Given the description of an element on the screen output the (x, y) to click on. 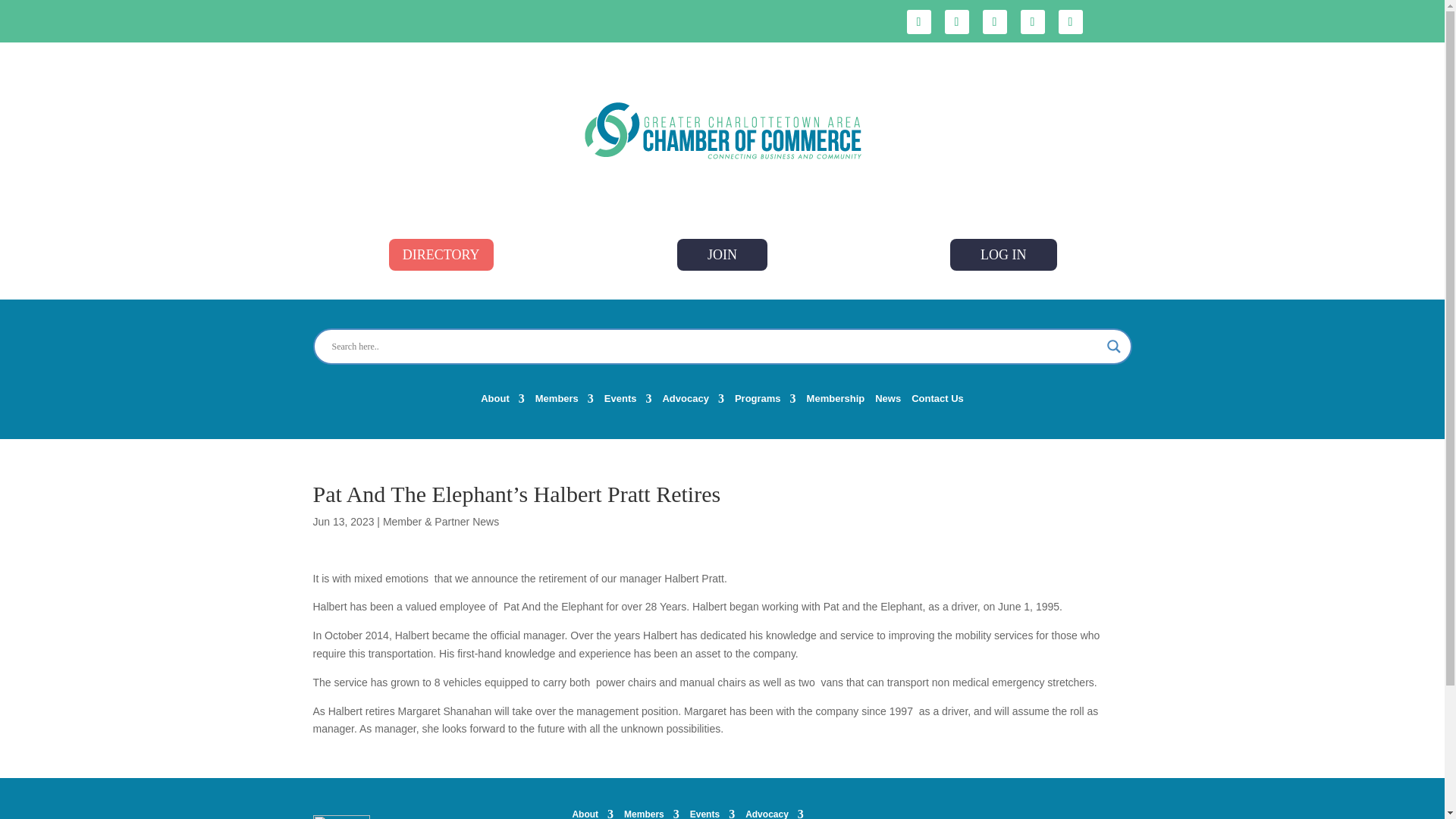
News (888, 401)
Membership (835, 401)
Events (628, 401)
Contact Us (937, 401)
Members (564, 401)
Follow on LinkedIn (994, 21)
Follow on Instagram (1070, 21)
LOG IN (1003, 254)
Programs (765, 401)
DIRECTORY (440, 254)
chamber-logo-1 (722, 129)
About (502, 401)
Follow on Facebook (919, 21)
Advocacy (692, 401)
Follow on X (956, 21)
